Given the description of an element on the screen output the (x, y) to click on. 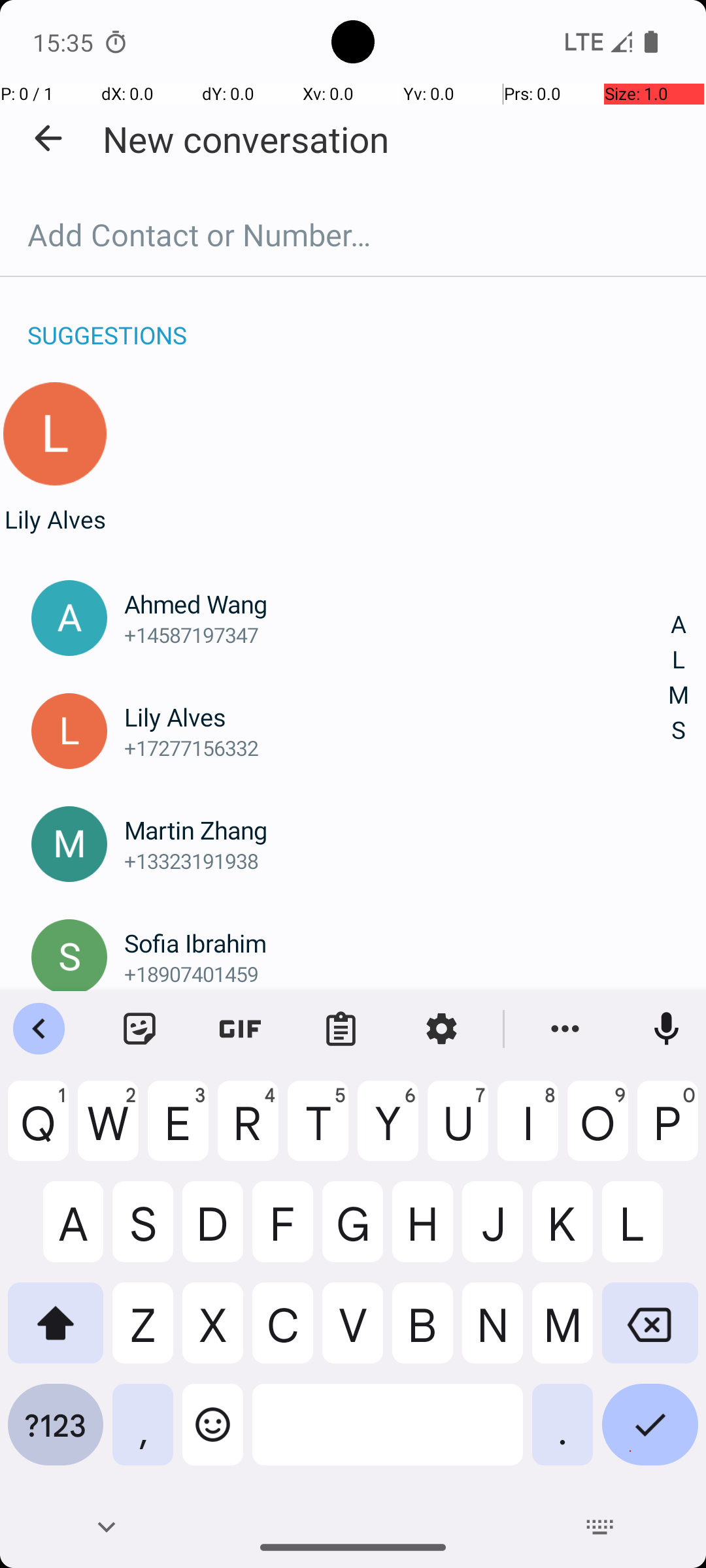
SUGGESTIONS Element type: android.widget.TextView (106, 321)
A
L
M
S Element type: android.widget.TextView (678, 677)
Lily Alves Element type: android.widget.TextView (54, 518)
+14587197347 Element type: android.widget.TextView (397, 634)
+17277156332 Element type: android.widget.TextView (397, 747)
Martin Zhang Element type: android.widget.TextView (397, 829)
+13323191938 Element type: android.widget.TextView (397, 860)
Sofia Ibrahim Element type: android.widget.TextView (397, 942)
+18907401459 Element type: android.widget.TextView (397, 973)
